Given the description of an element on the screen output the (x, y) to click on. 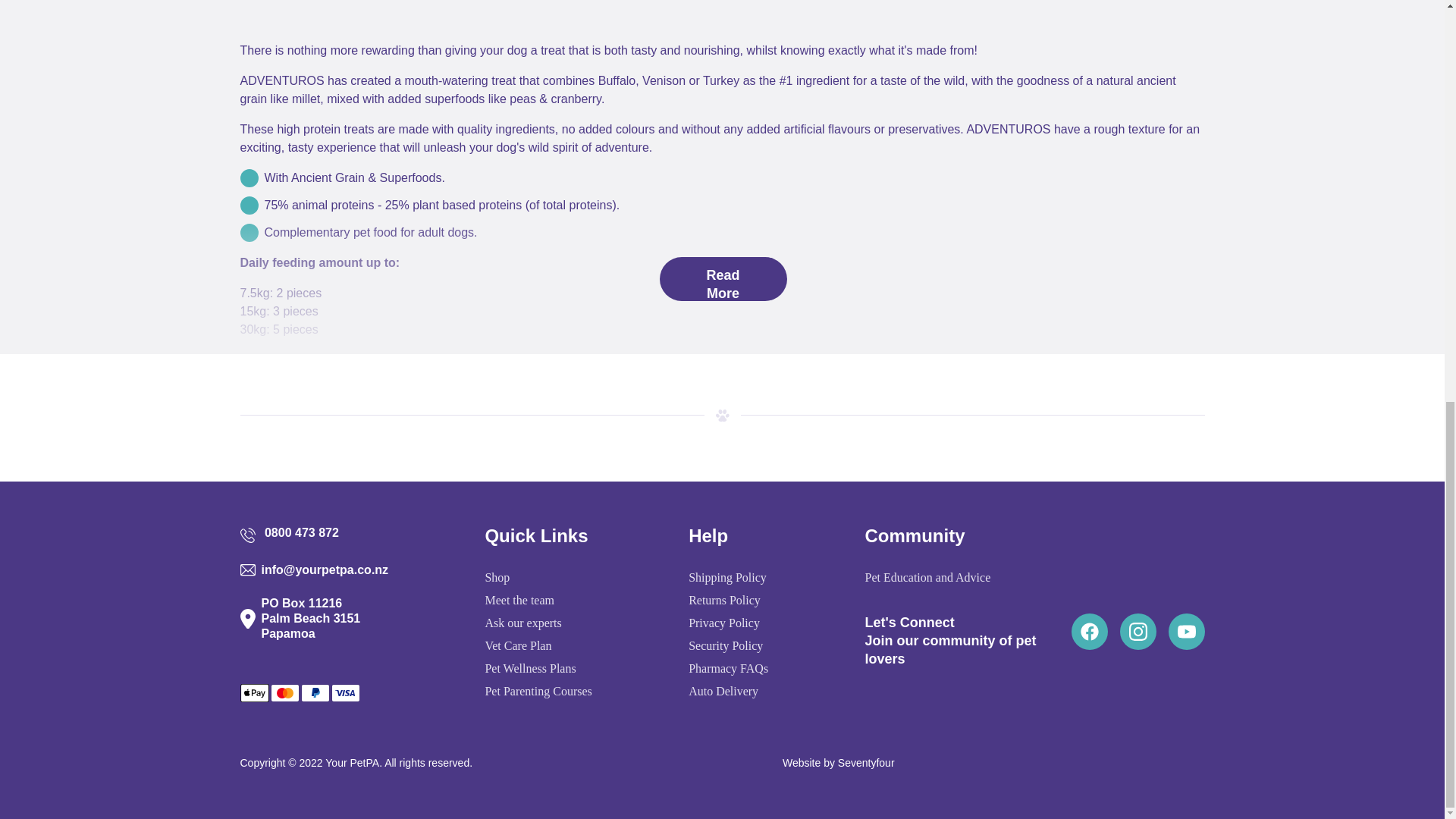
Your PetPA NZ (351, 762)
Apple Pay (253, 692)
PayPal (314, 692)
Mastercard (283, 692)
7A7916A5-A2E1-4B8A-82E1-C387333B4BC9 (722, 415)
Visa (344, 692)
